Given the description of an element on the screen output the (x, y) to click on. 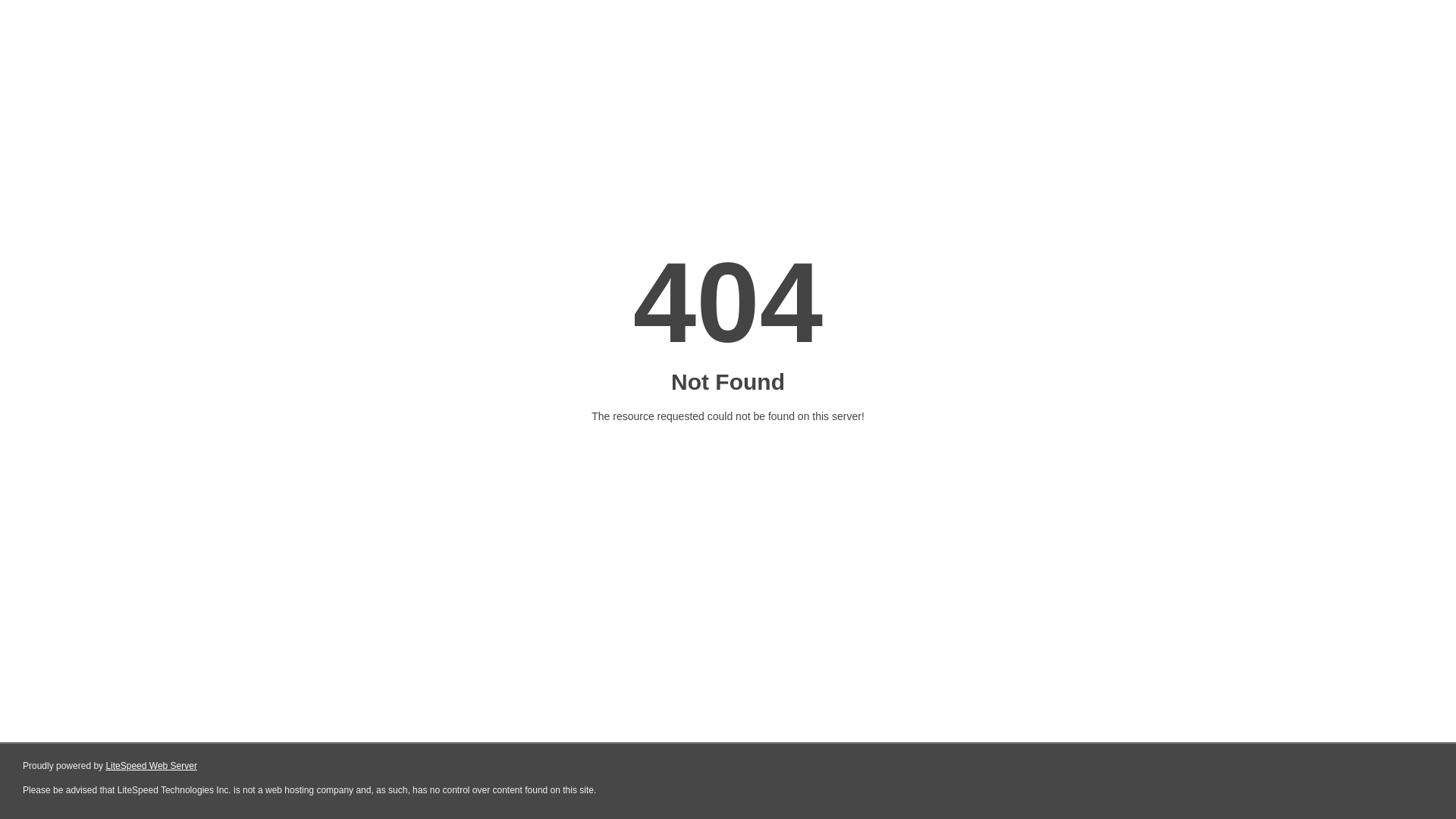
LiteSpeed Web Server Element type: text (151, 765)
